Given the description of an element on the screen output the (x, y) to click on. 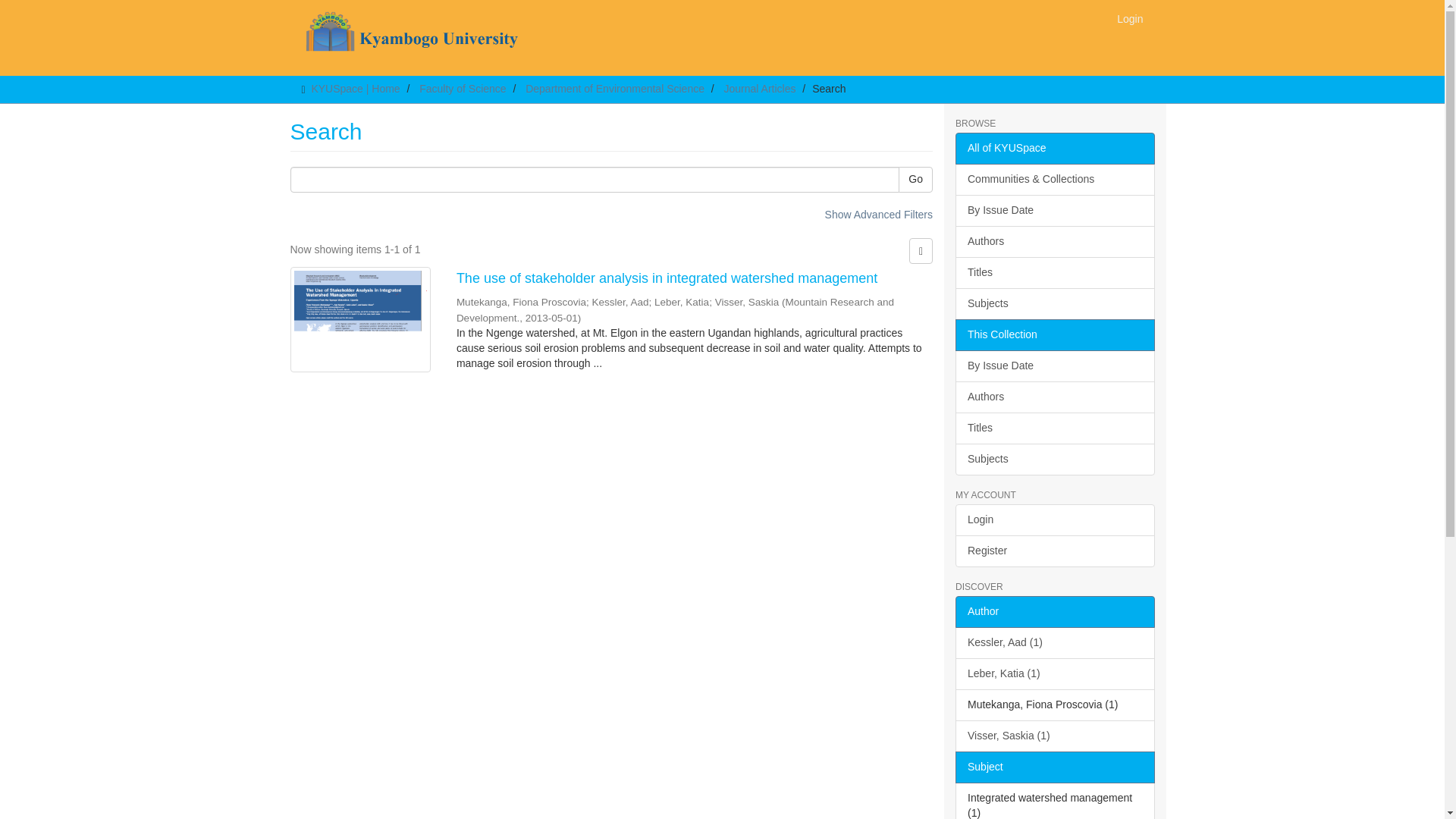
Login (1129, 18)
Go (915, 179)
Department of Environmental Science (614, 88)
Journal Articles (759, 88)
Faculty of Science (462, 88)
Show Advanced Filters (879, 214)
